Given the description of an element on the screen output the (x, y) to click on. 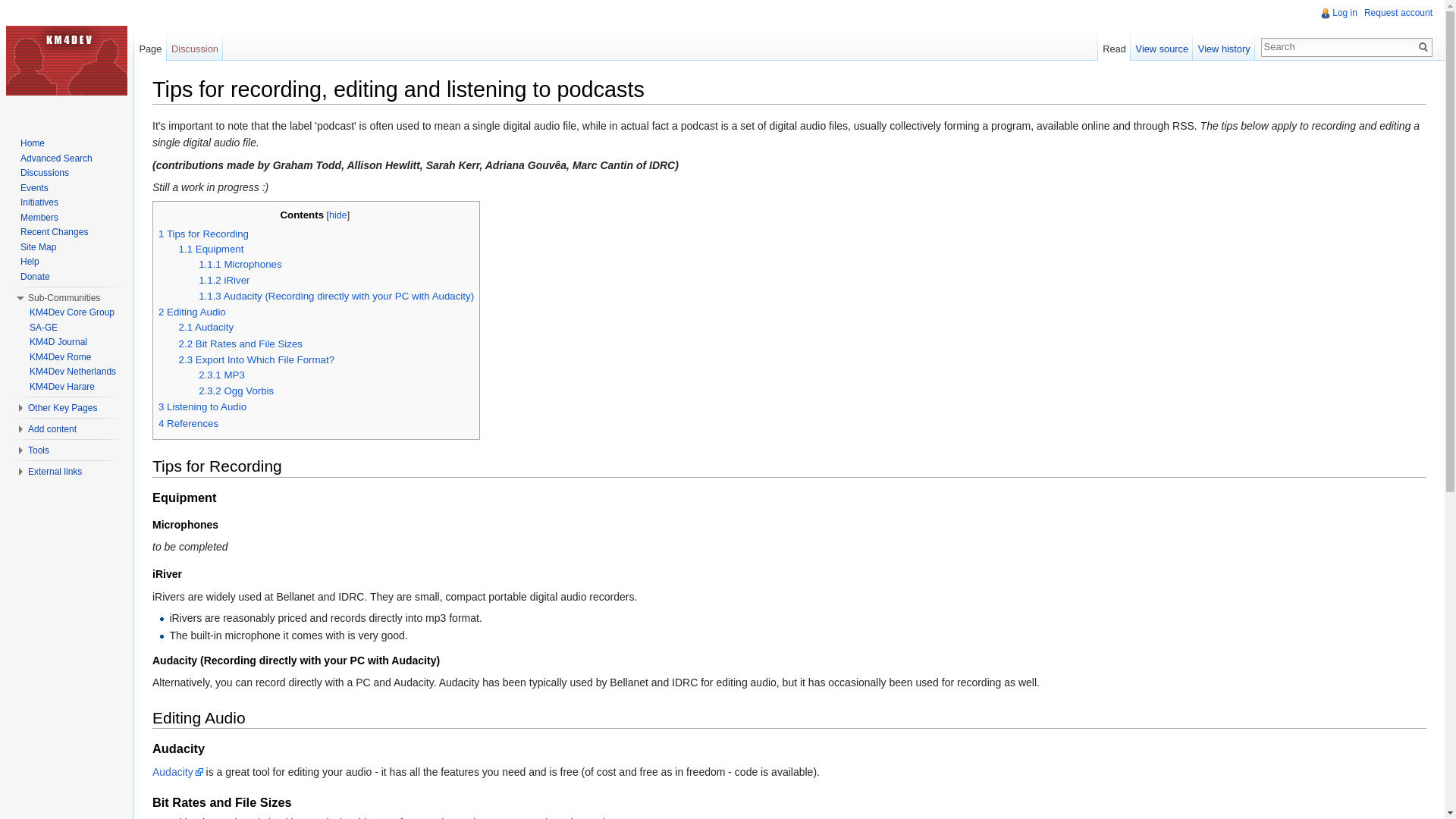
Discussion (195, 45)
Read (1114, 45)
1.1 Equipment (211, 248)
3 Listening to Audio (202, 406)
2.3.1 MP3 (221, 374)
View source (1161, 45)
Go (1423, 46)
View history (1223, 45)
Log in (1344, 12)
2.3.2 Ogg Vorbis (235, 390)
